Given the description of an element on the screen output the (x, y) to click on. 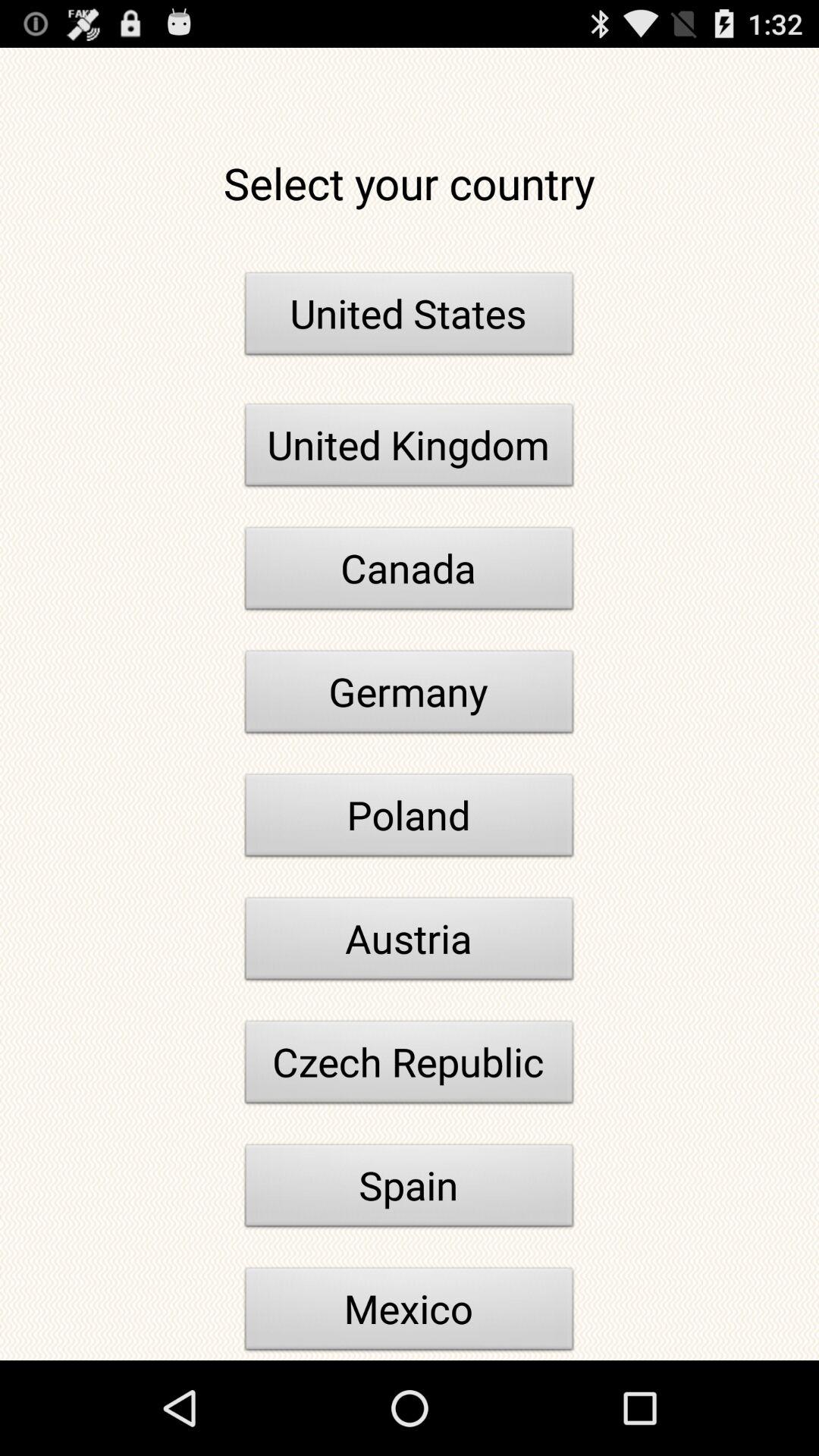
select the item below the canada button (409, 695)
